Given the description of an element on the screen output the (x, y) to click on. 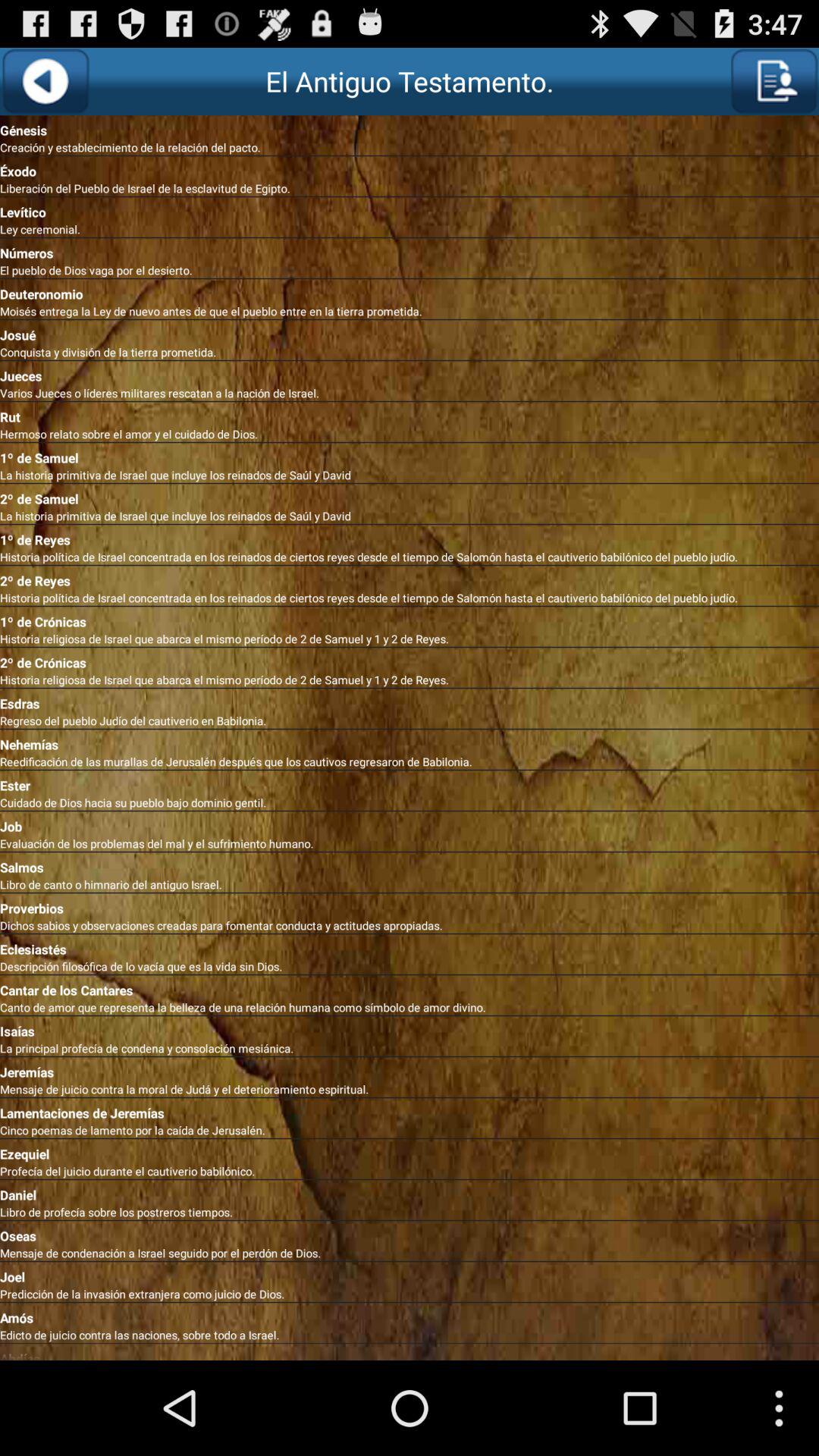
swipe until the daniel (409, 1192)
